Given the description of an element on the screen output the (x, y) to click on. 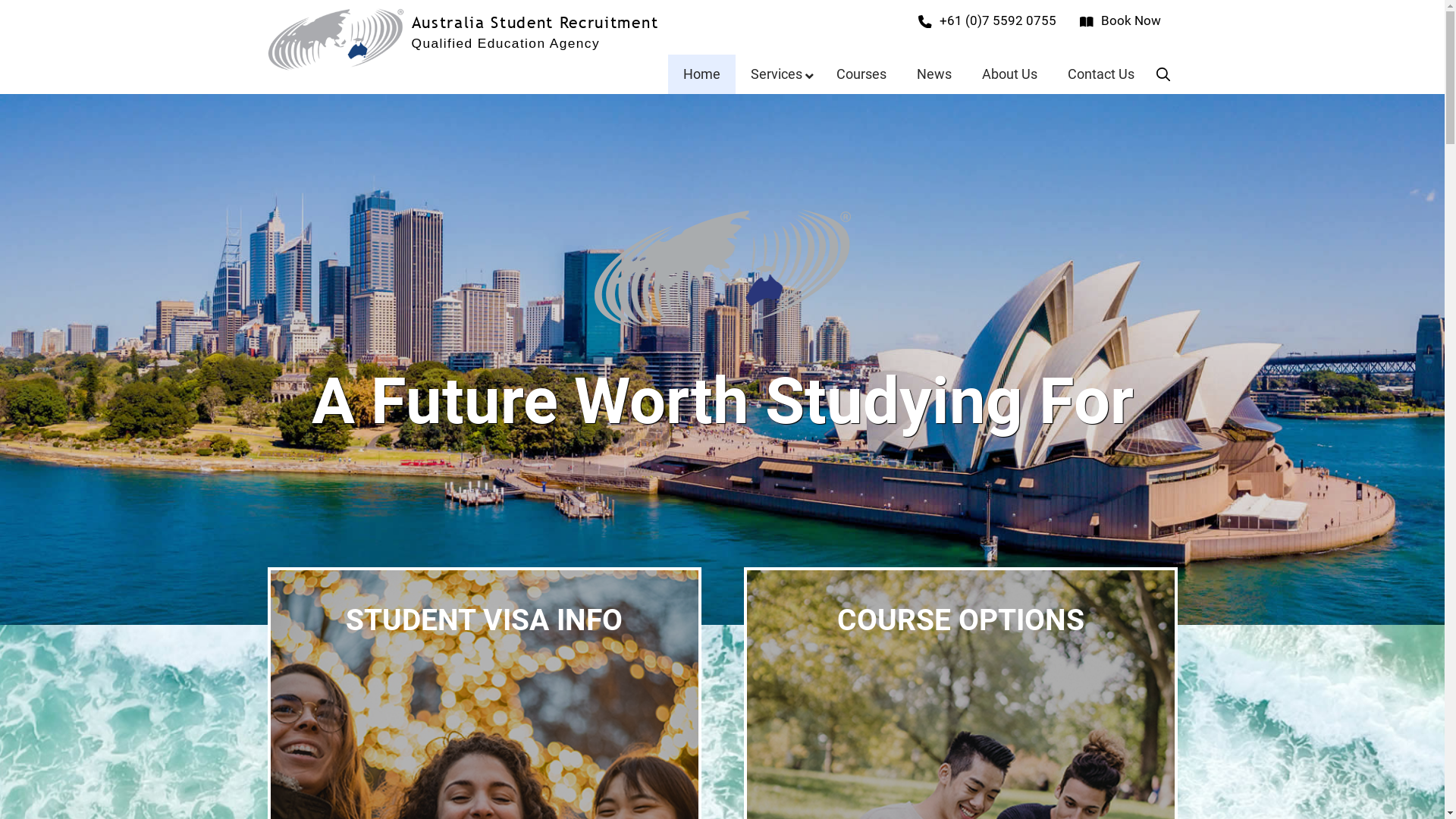
Book Now Element type: text (1120, 20)
News Element type: text (933, 74)
Courses Element type: text (861, 74)
About Us Element type: text (1009, 74)
Home Element type: text (701, 74)
Services Element type: text (778, 74)
Contact Us Element type: text (1100, 74)
+61 (0)7 5592 0755 Element type: text (988, 20)
